Given the description of an element on the screen output the (x, y) to click on. 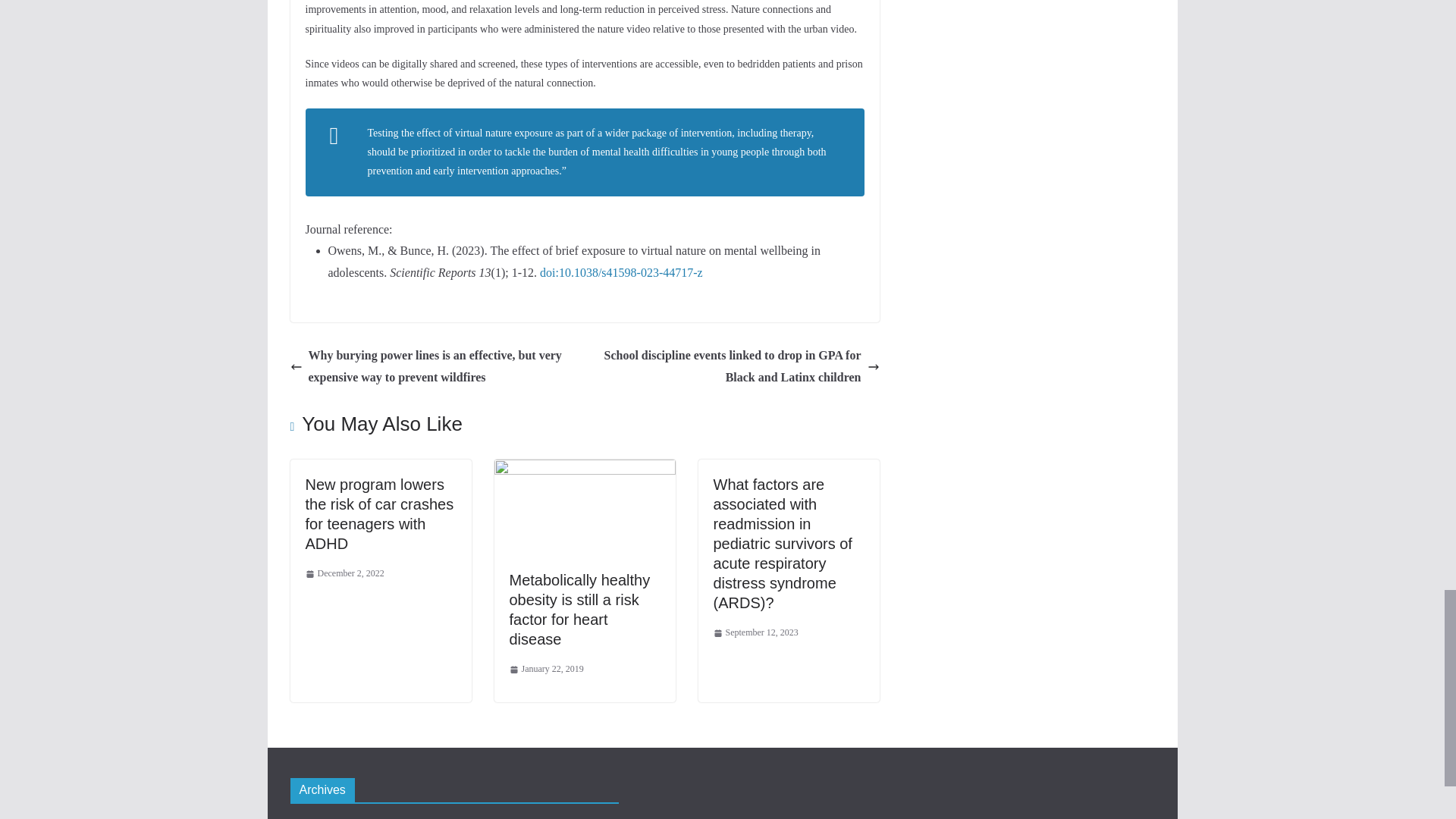
4:51 am (344, 573)
7:48 pm (546, 669)
December 2, 2022 (344, 573)
